Given the description of an element on the screen output the (x, y) to click on. 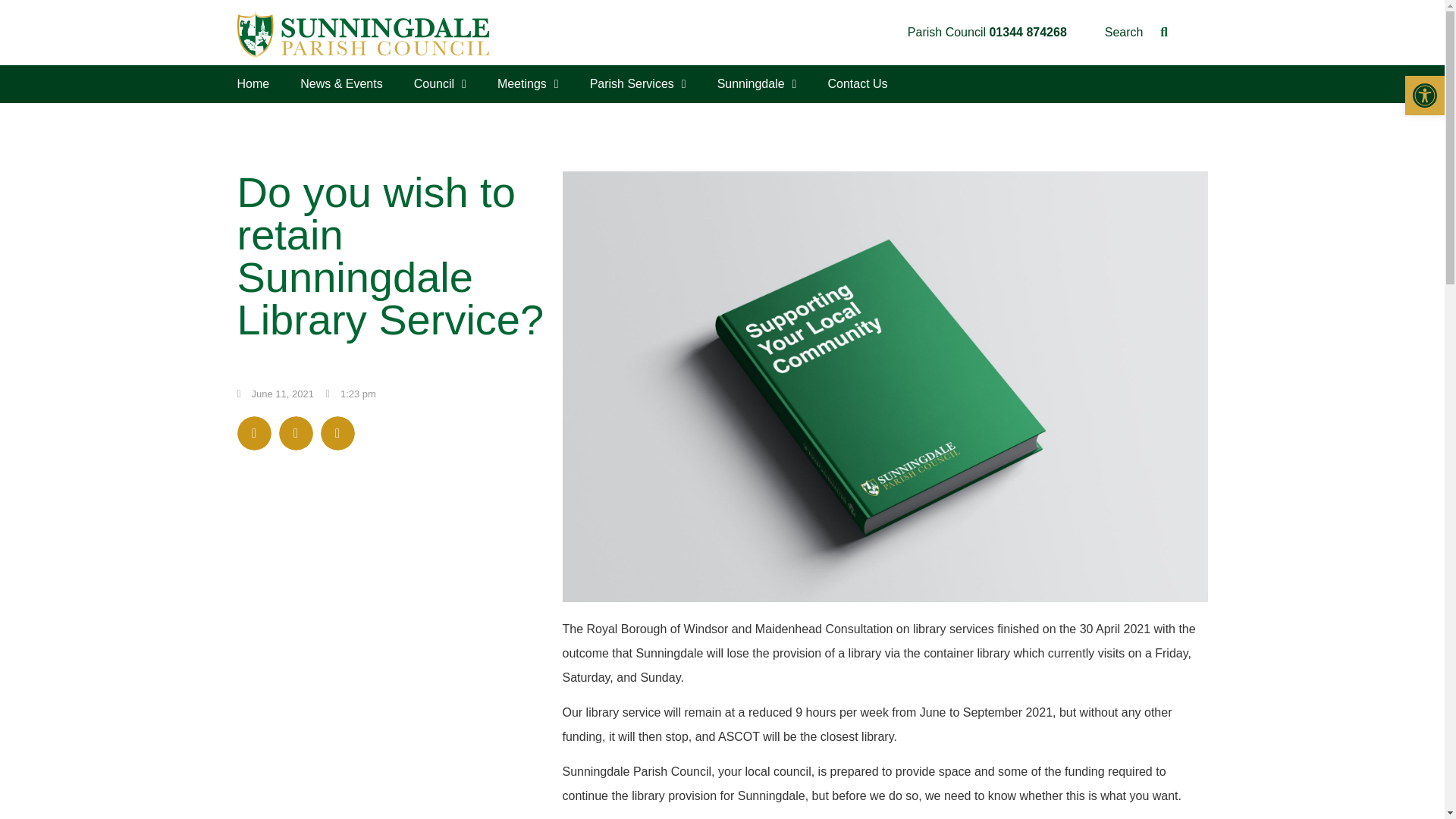
Council (440, 83)
Parish Services (638, 83)
Home (252, 83)
Meetings (527, 83)
Accessibility Tools (1424, 95)
